Given the description of an element on the screen output the (x, y) to click on. 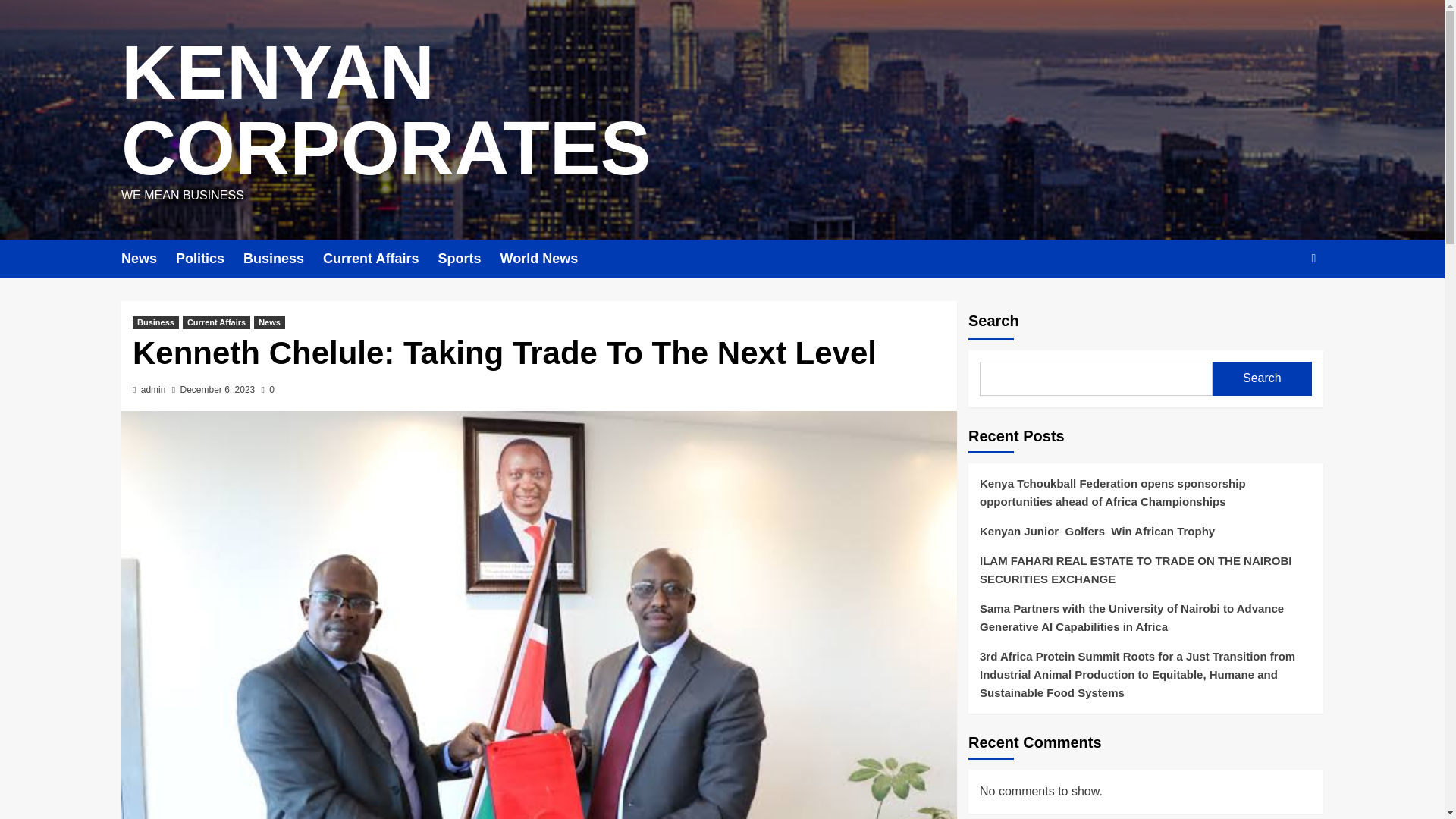
News (269, 322)
Politics (209, 258)
admin (153, 389)
Business (283, 258)
News (148, 258)
Search (1278, 305)
Current Affairs (216, 322)
0 (268, 389)
World News (547, 258)
December 6, 2023 (218, 389)
KENYAN CORPORATES (385, 109)
Sports (468, 258)
Current Affairs (380, 258)
Business (155, 322)
